Given the description of an element on the screen output the (x, y) to click on. 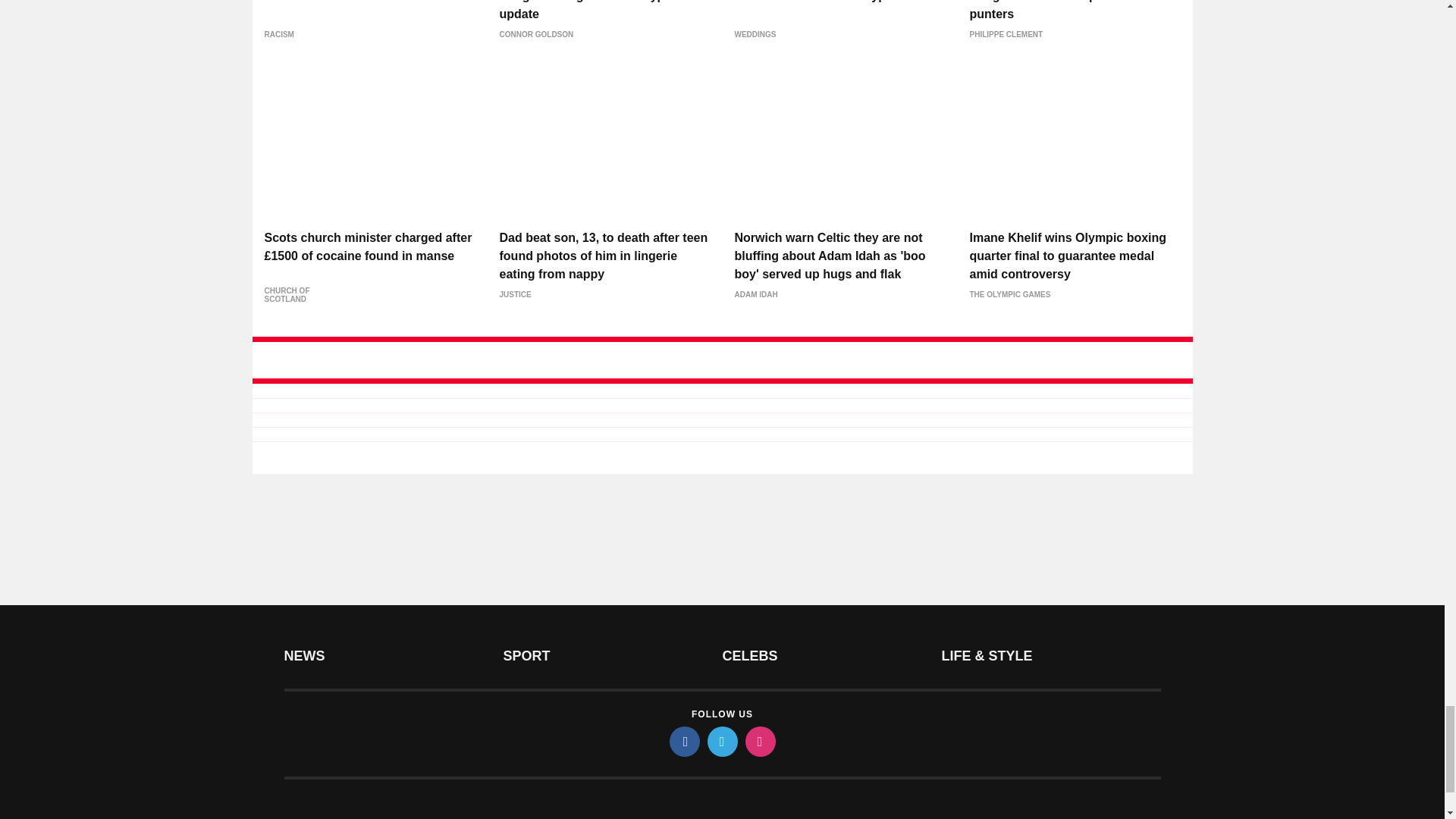
instagram (759, 741)
facebook (683, 741)
twitter (721, 741)
